Given the description of an element on the screen output the (x, y) to click on. 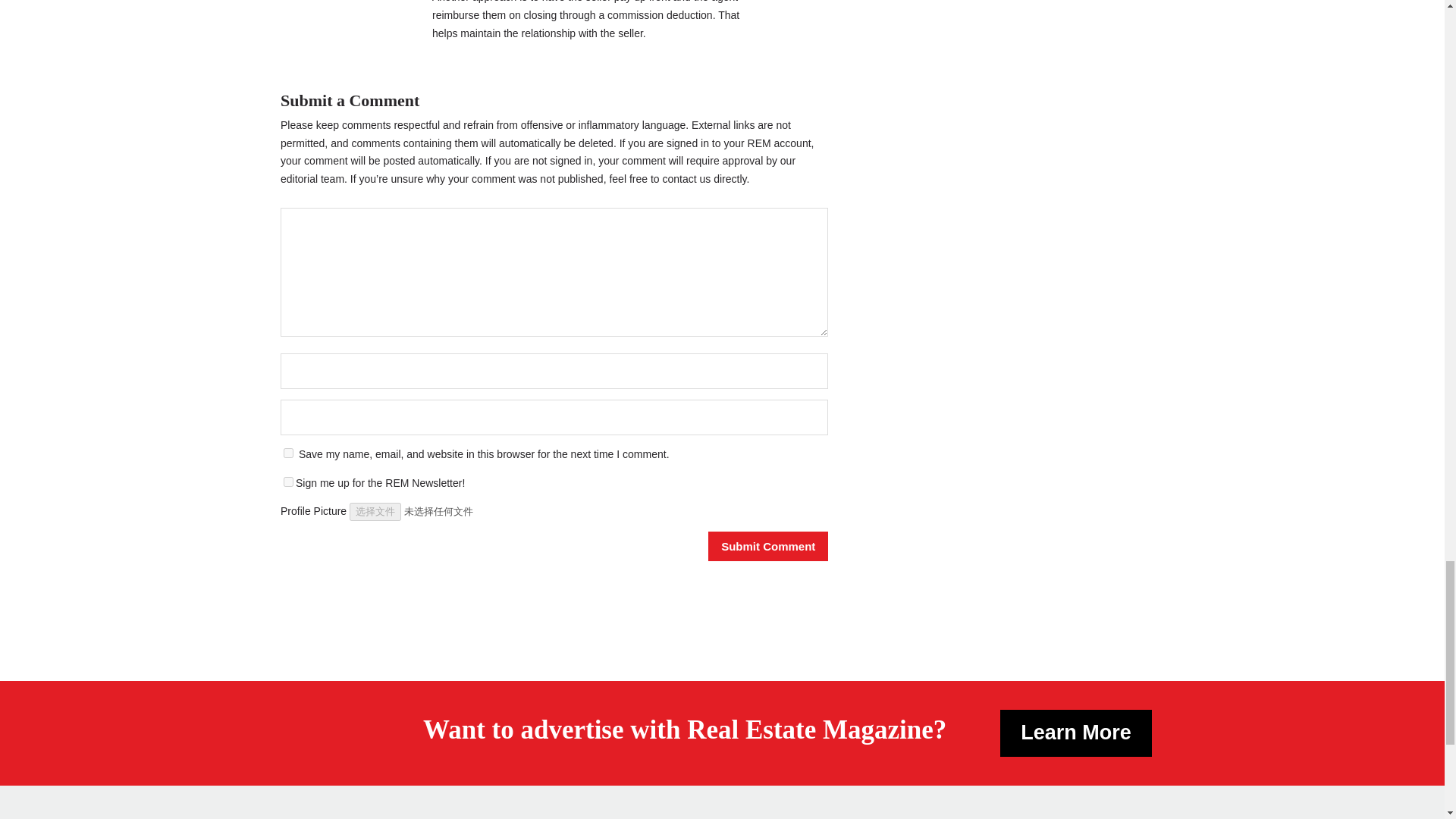
1 (288, 481)
yes (288, 452)
Submit Comment (767, 546)
